Given the description of an element on the screen output the (x, y) to click on. 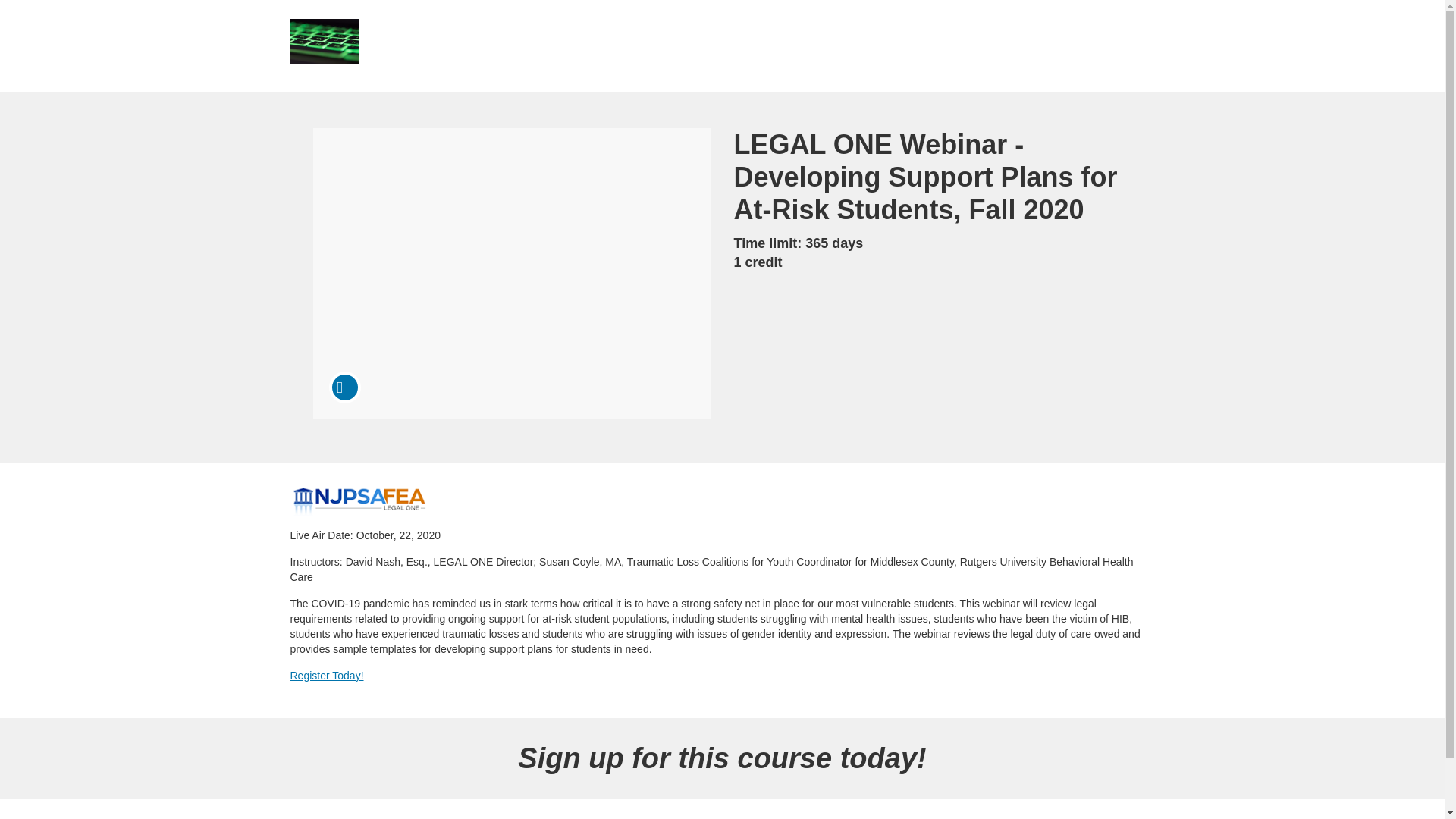
Register Today! (325, 675)
Course (345, 387)
LEGAL ONE Webinars (358, 501)
